Given the description of an element on the screen output the (x, y) to click on. 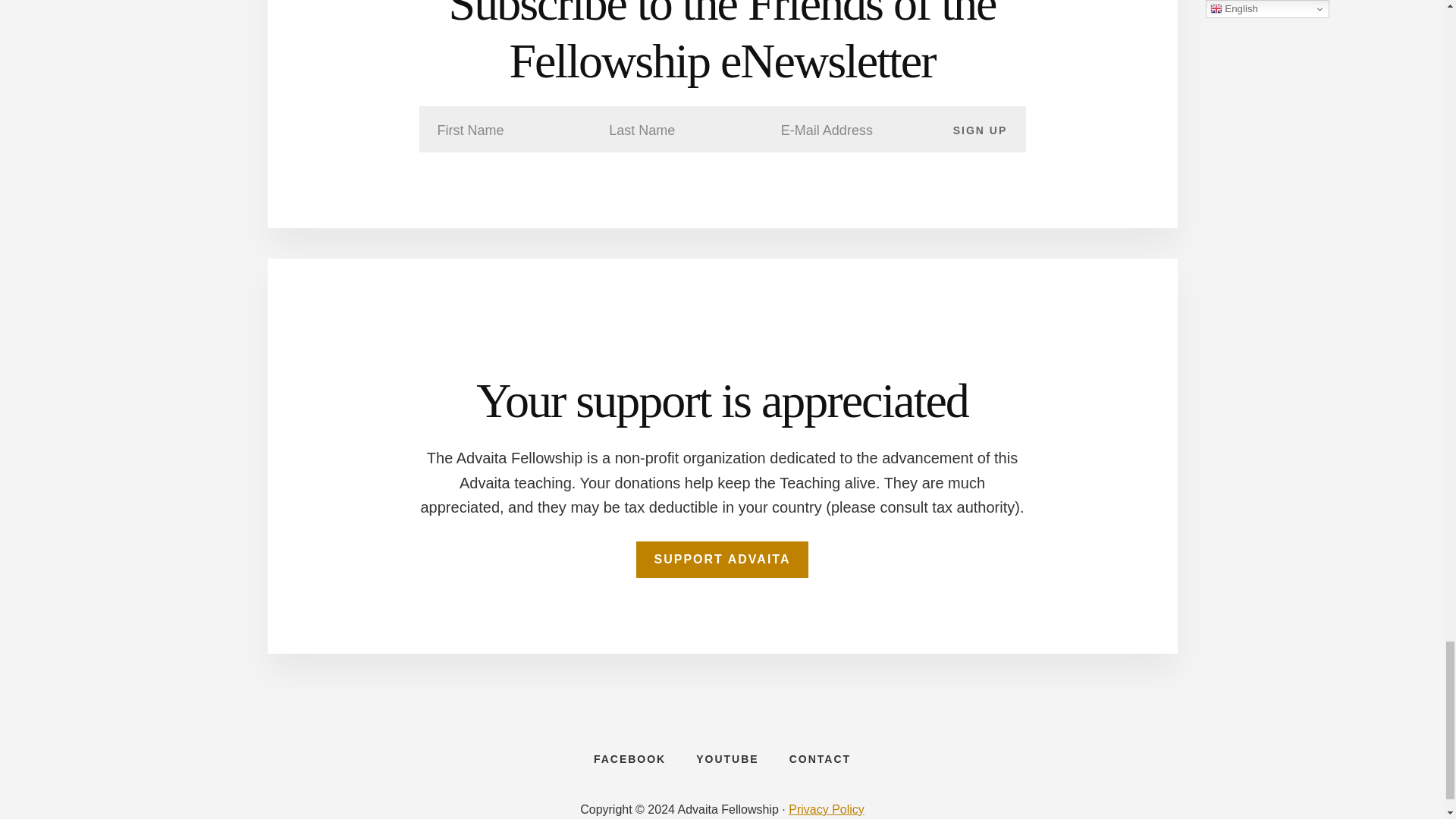
Sign Up (980, 129)
